Given the description of an element on the screen output the (x, y) to click on. 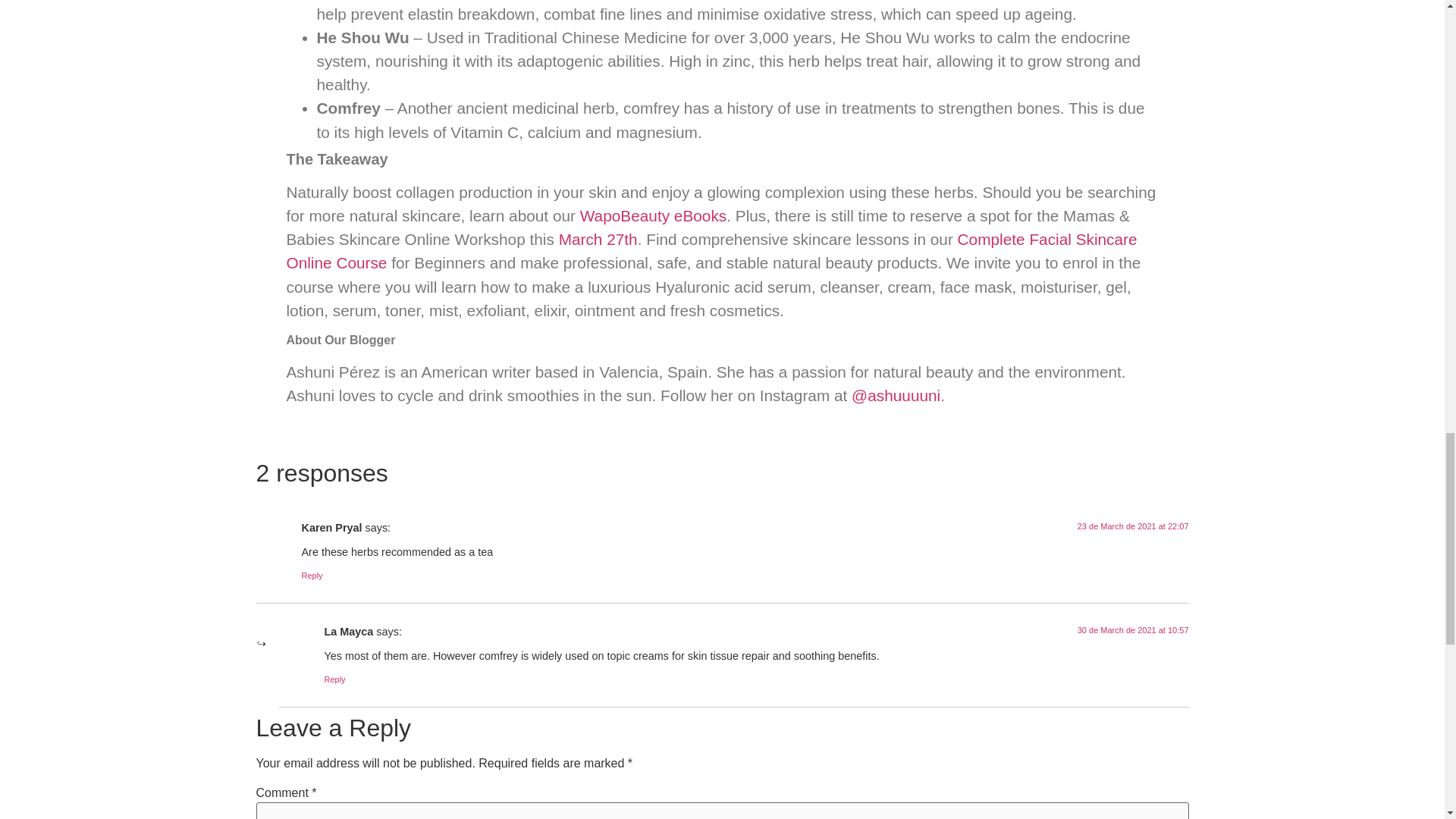
30 de March de 2021 at 10:57 (1133, 629)
Complete Facial Skincare Online Course (711, 250)
Reply (312, 574)
Reply (335, 678)
23 de March de 2021 at 22:07 (1133, 525)
WapoBeauty eBooks (652, 215)
March 27th (598, 239)
